Given the description of an element on the screen output the (x, y) to click on. 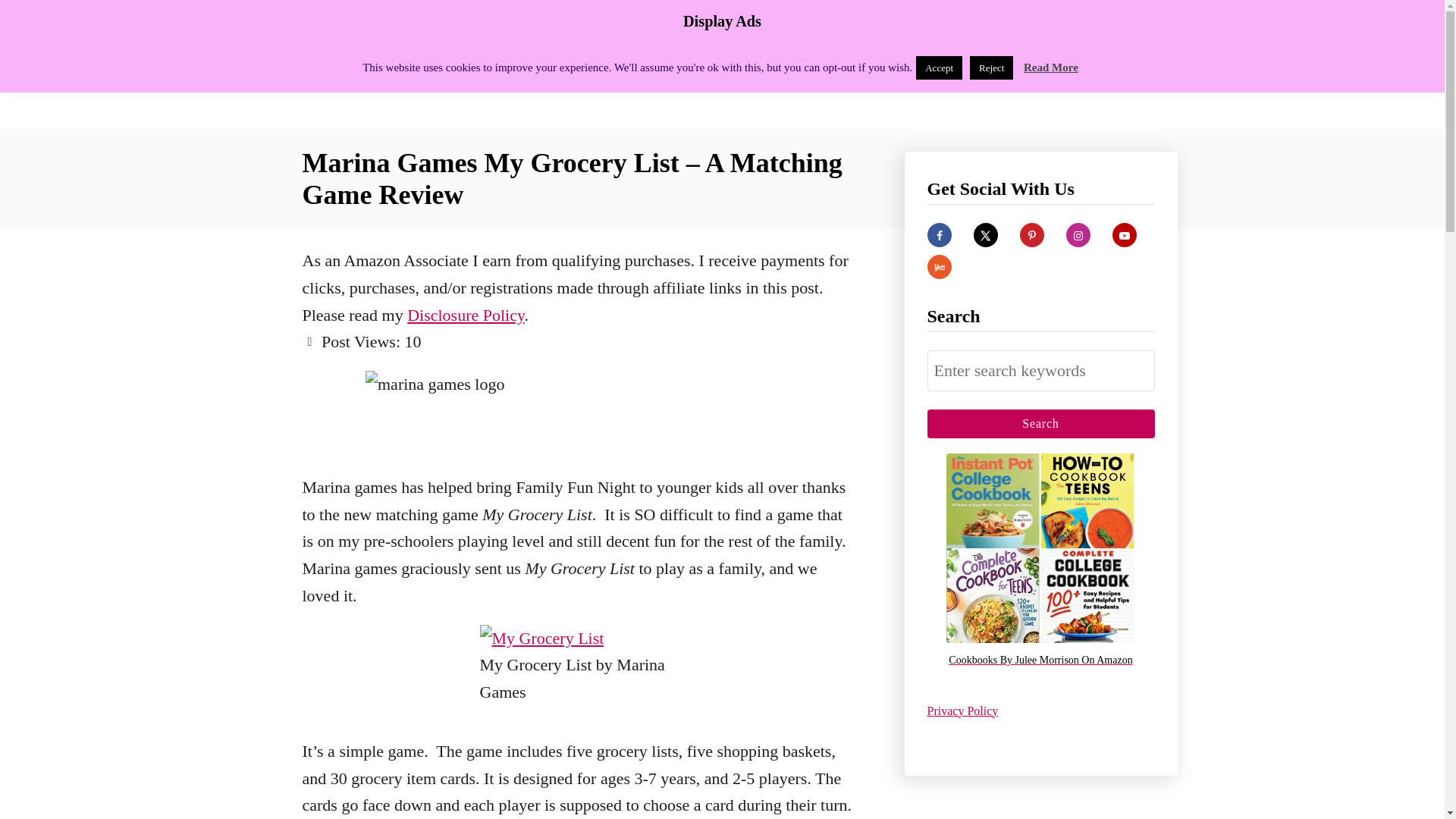
Accept (938, 67)
Search (1040, 423)
Follow on YouTube (1124, 234)
Mommy's Memorandum (433, 64)
Privacy Policy (961, 709)
Follow on Pinterest (1031, 234)
Follow on X (985, 234)
Reject (991, 67)
Follow on Instagram (1077, 234)
Search (1040, 423)
